Given the description of an element on the screen output the (x, y) to click on. 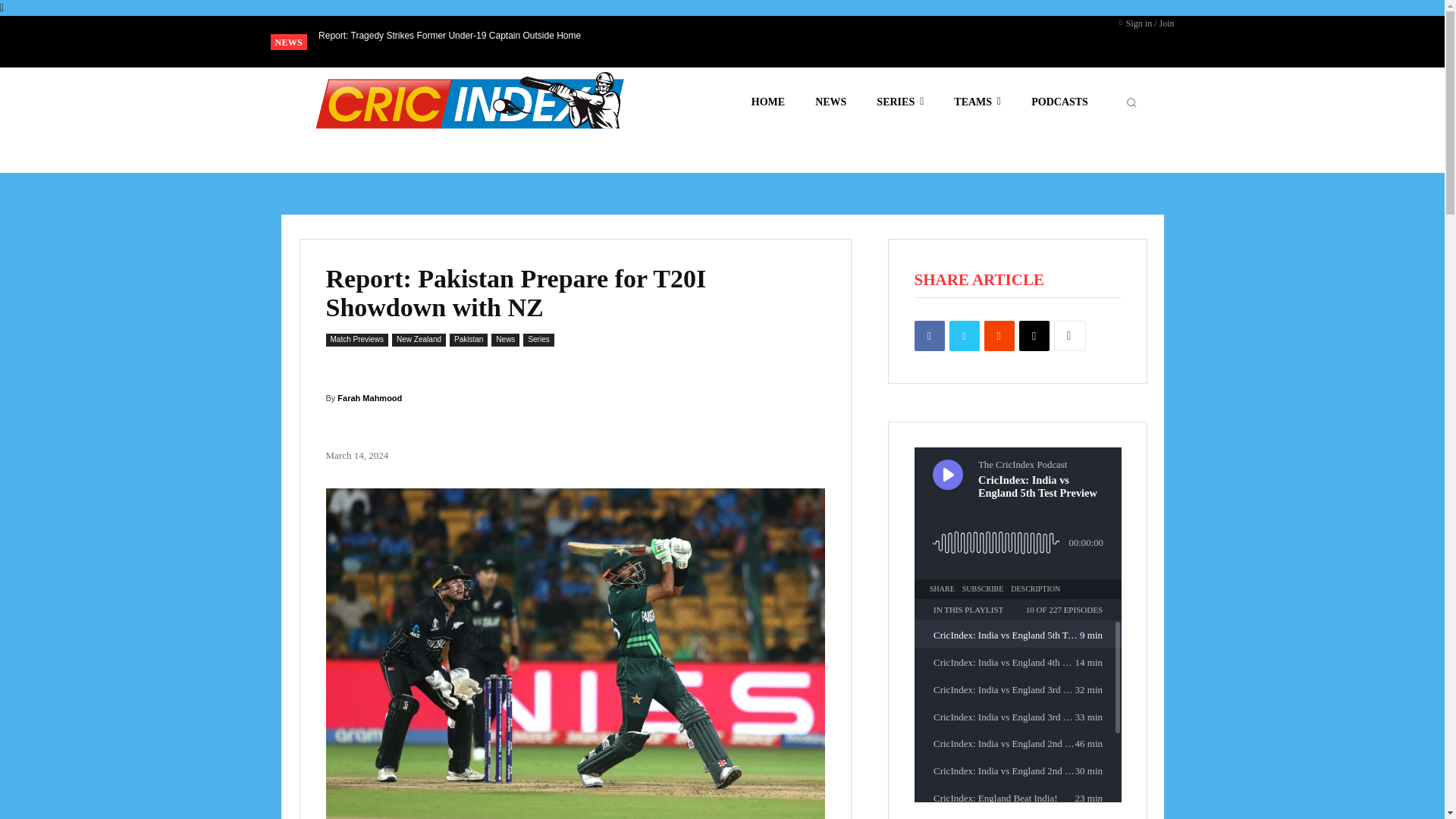
Report: Tragedy Strikes Former Under-19 Captain Outside Home (449, 35)
